Given the description of an element on the screen output the (x, y) to click on. 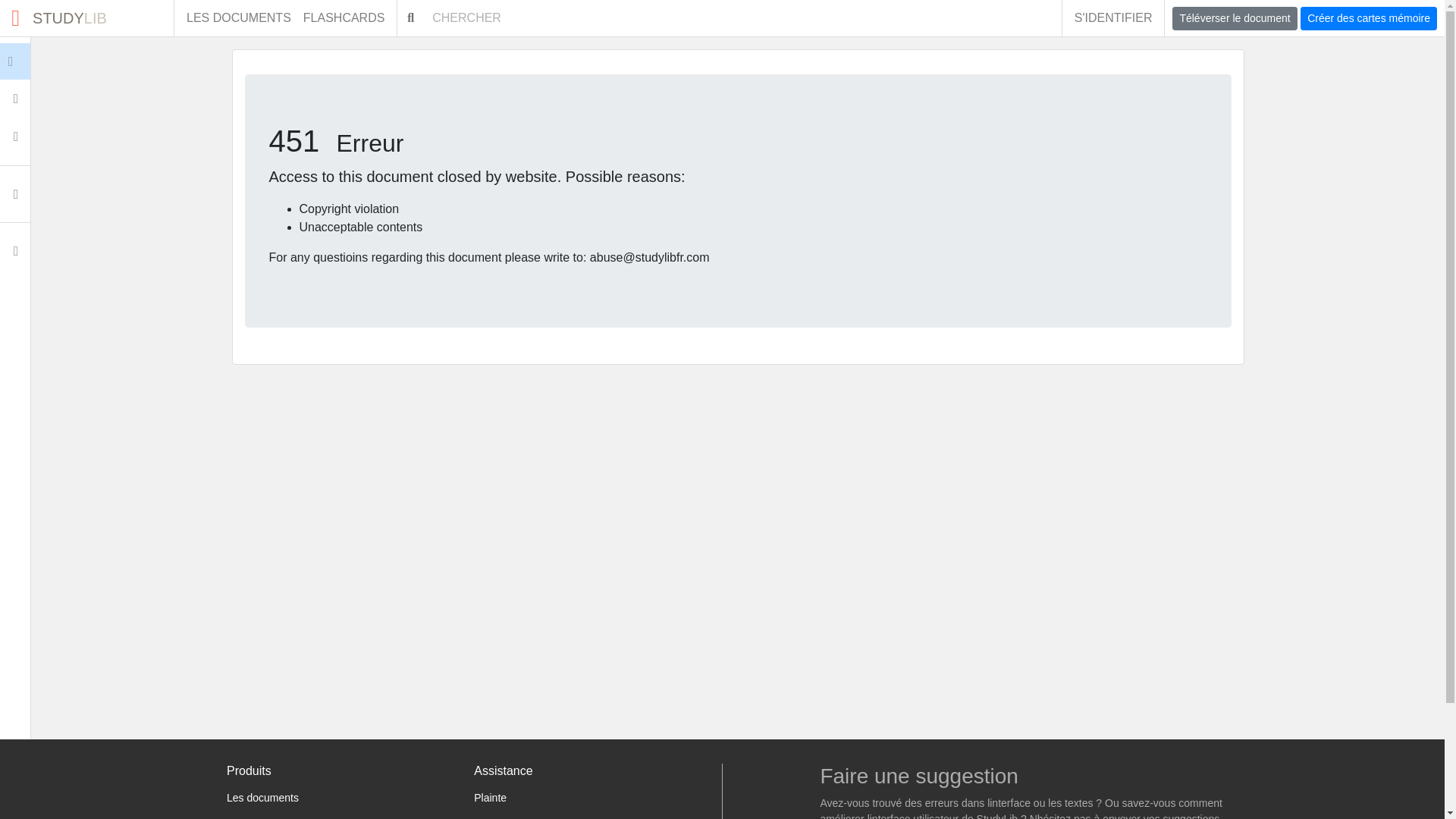
Flashcards (86, 18)
FLASHCARDS (339, 815)
Plainte (349, 18)
LES DOCUMENTS (586, 797)
Les documents (238, 18)
S'identifier (339, 797)
Partenaires (60, 61)
S'IDENTIFIER (586, 815)
